Given the description of an element on the screen output the (x, y) to click on. 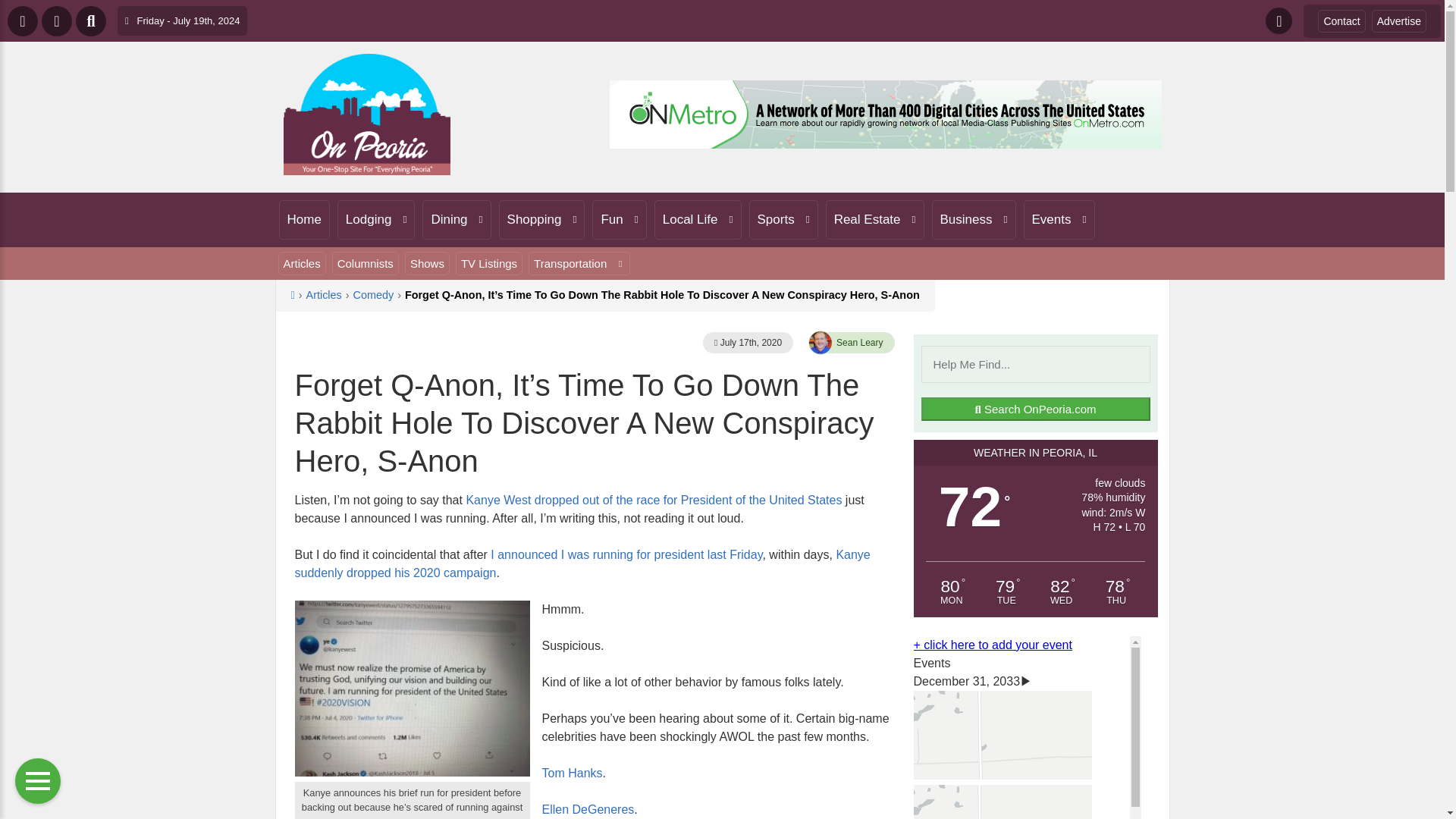
Dining (456, 219)
Contact (1341, 20)
Fun (619, 219)
Lodging (375, 219)
Facebook (1278, 20)
Shopping (542, 219)
Home (304, 219)
Advertise (1398, 20)
On Peoria (367, 114)
